Given the description of an element on the screen output the (x, y) to click on. 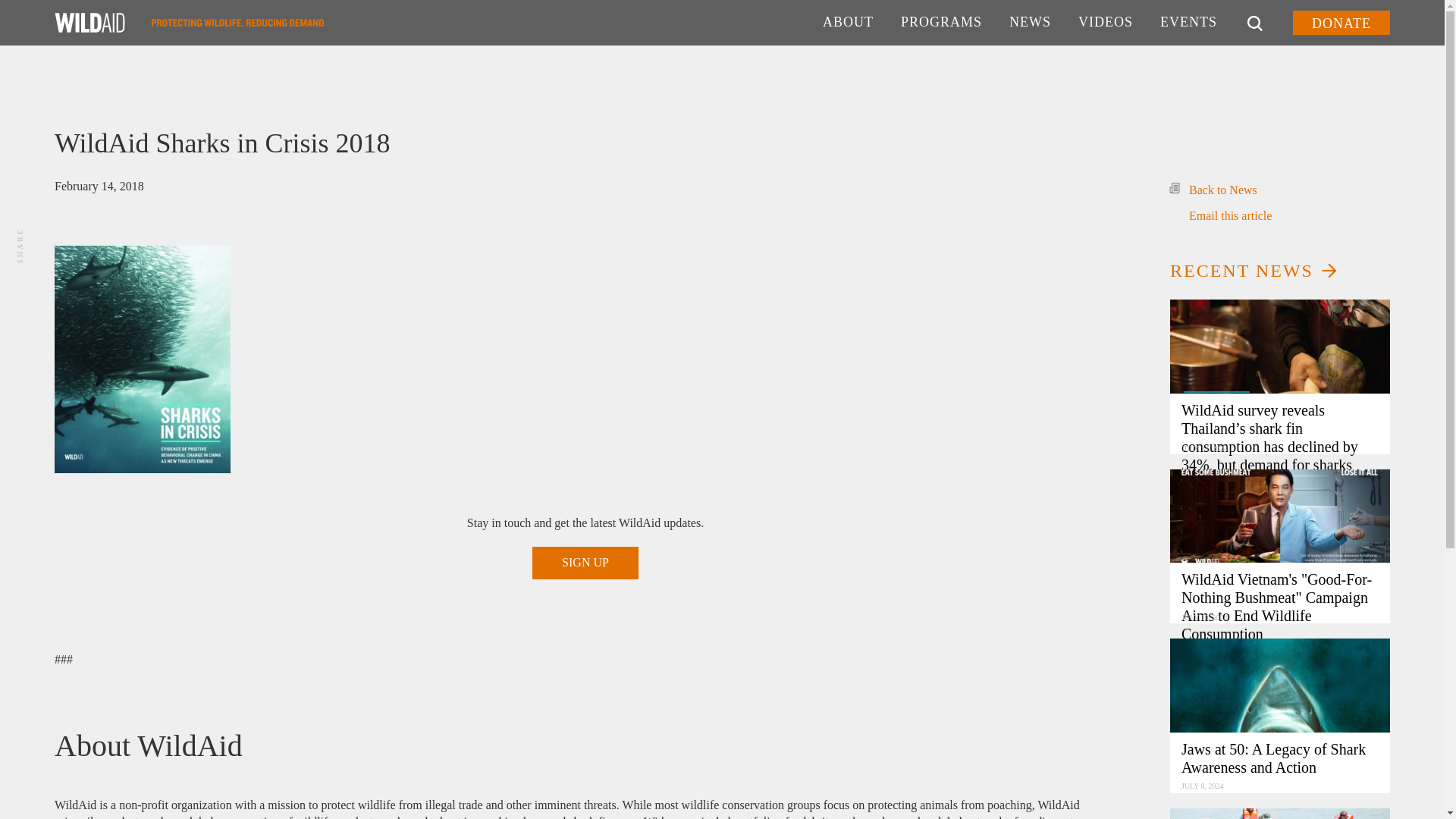
EVENTS (1188, 22)
VIDEOS (1105, 22)
NEWS (1029, 22)
DONATE (1341, 22)
ABOUT (847, 22)
PROGRAMS (940, 22)
